Given the description of an element on the screen output the (x, y) to click on. 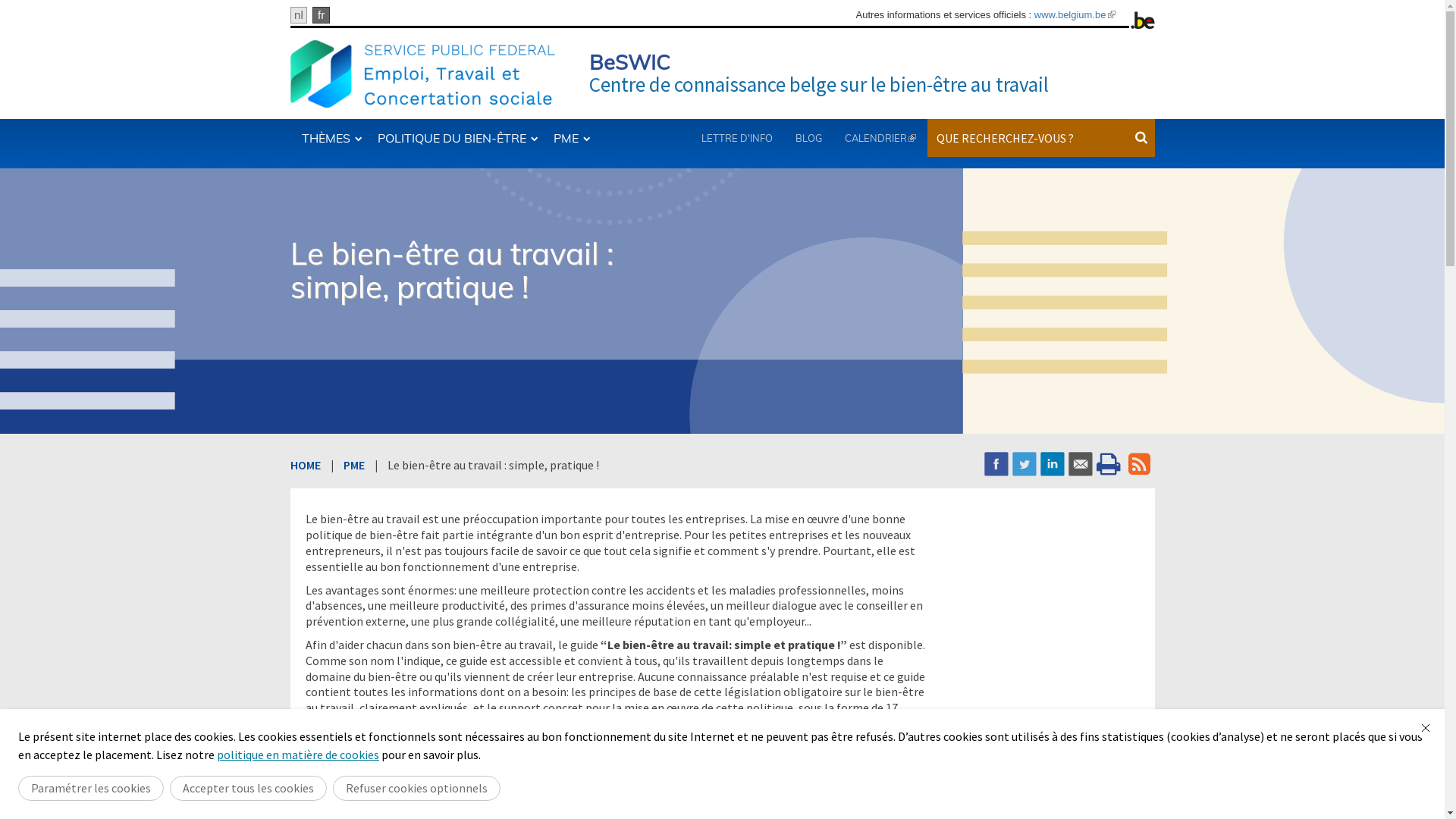
CALENDRIER
(LINK IS EXTERNAL) Element type: text (879, 137)
Rechercher Element type: text (1167, 156)
HOME Element type: text (304, 464)
Accepter tous les cookies Element type: text (247, 787)
linkedin Element type: hover (1052, 463)
twitter Element type: hover (1023, 463)
facebook Element type: hover (996, 463)
nl Element type: text (298, 14)
Refuser cookies optionnels Element type: text (416, 787)
email Element type: hover (1079, 463)
fr Element type: text (320, 14)
BLOG Element type: text (808, 137)
www.belgium.be
(link is external) Element type: text (1074, 14)
PRINT Element type: text (1109, 464)
RSS Element type: text (1139, 464)
Aller au contenu principal Element type: text (66, 0)
Fermer Element type: hover (1425, 727)
LETTRE D'INFO Element type: text (737, 137)
